Given the description of an element on the screen output the (x, y) to click on. 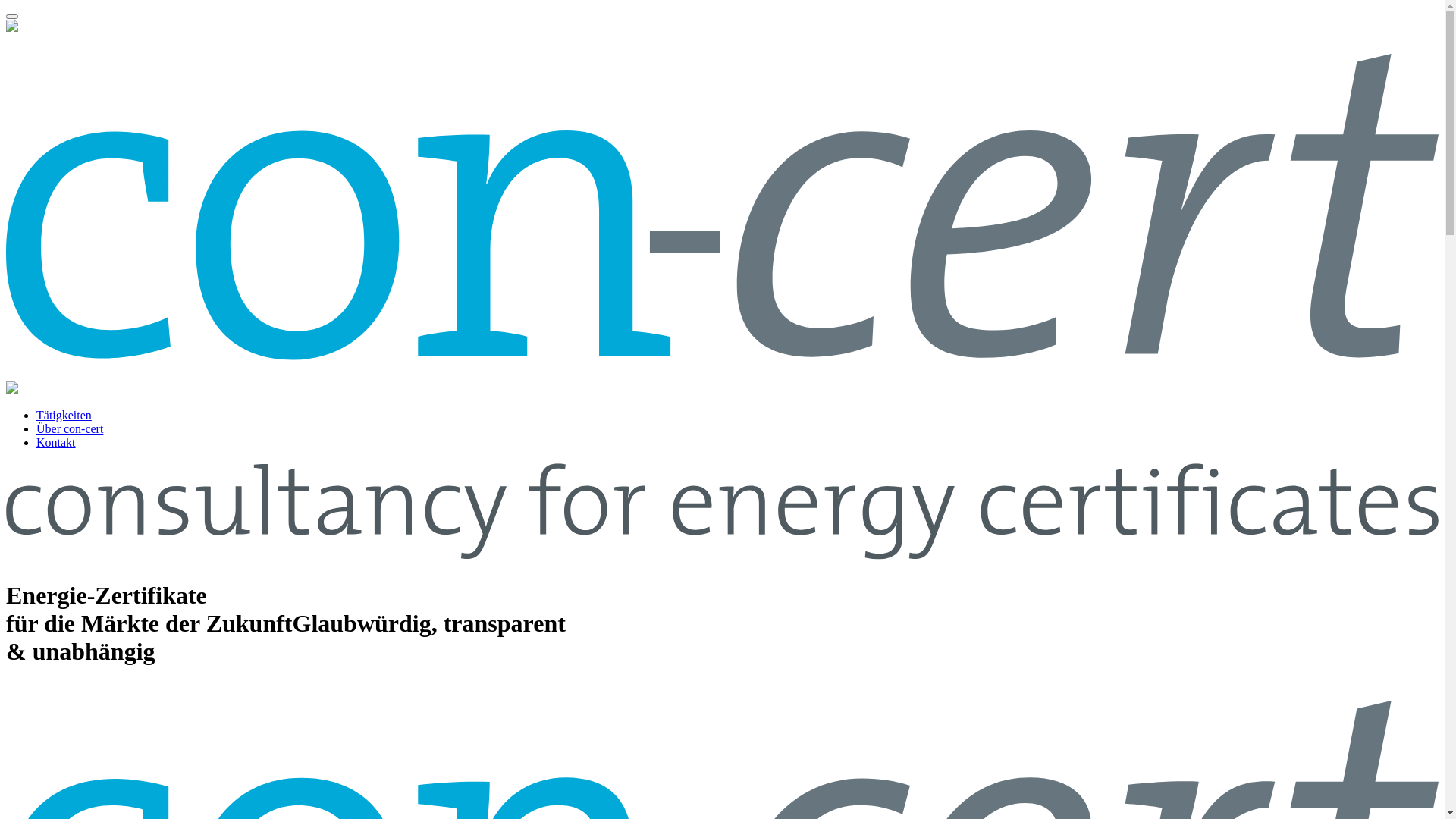
Kontakt Element type: text (55, 442)
